Given the description of an element on the screen output the (x, y) to click on. 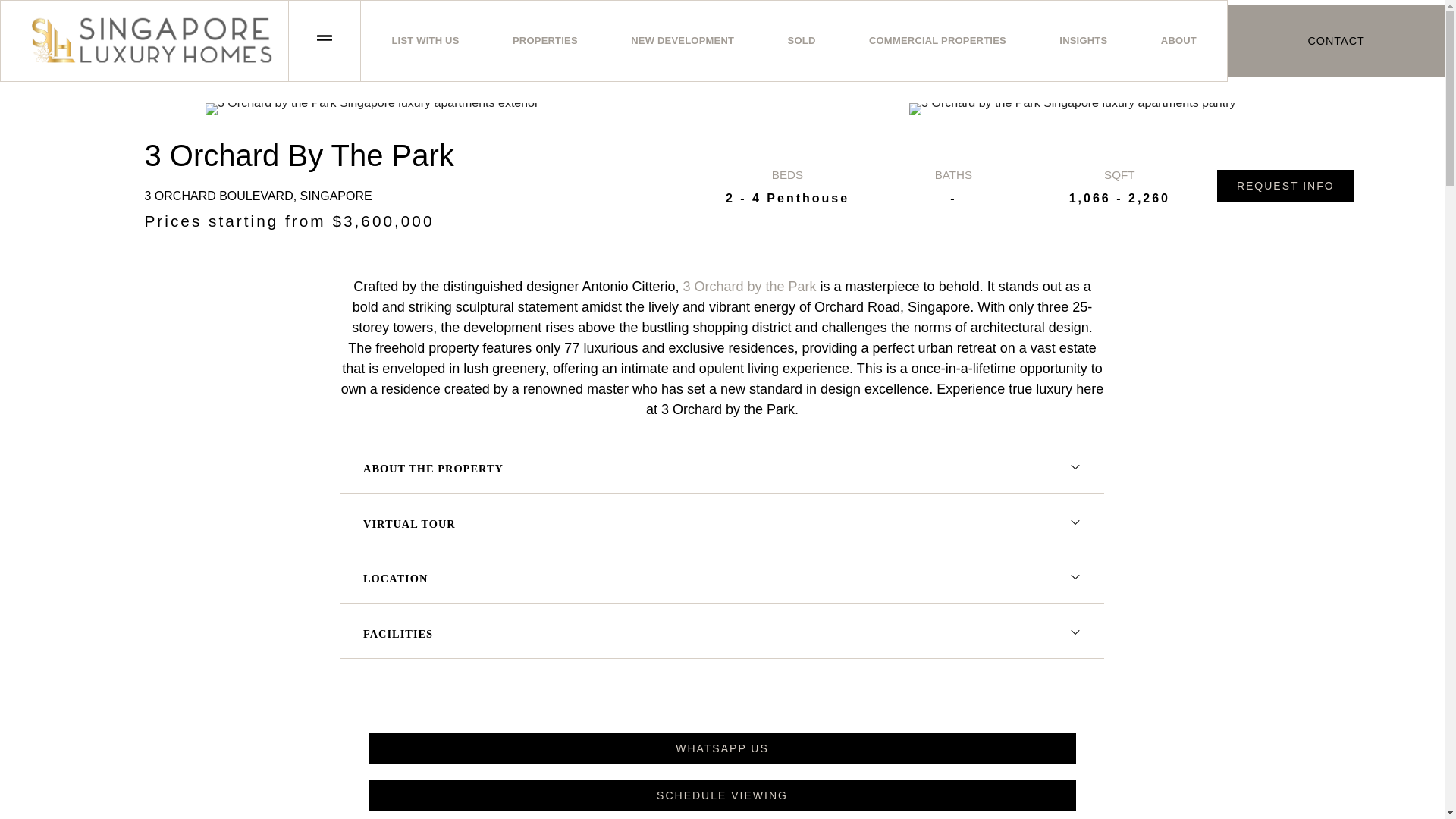
PROPERTIES (544, 40)
ABOUT (1179, 40)
ABOUT THE PROPERTY (721, 469)
INSIGHTS (1082, 40)
LIST WITH US (424, 40)
VIRTUAL TOUR (721, 524)
COMMERCIAL PROPERTIES (937, 40)
REQUEST INFO (1285, 185)
NEW DEVELOPMENT (682, 40)
3 Orchard by the Park (748, 286)
